Given the description of an element on the screen output the (x, y) to click on. 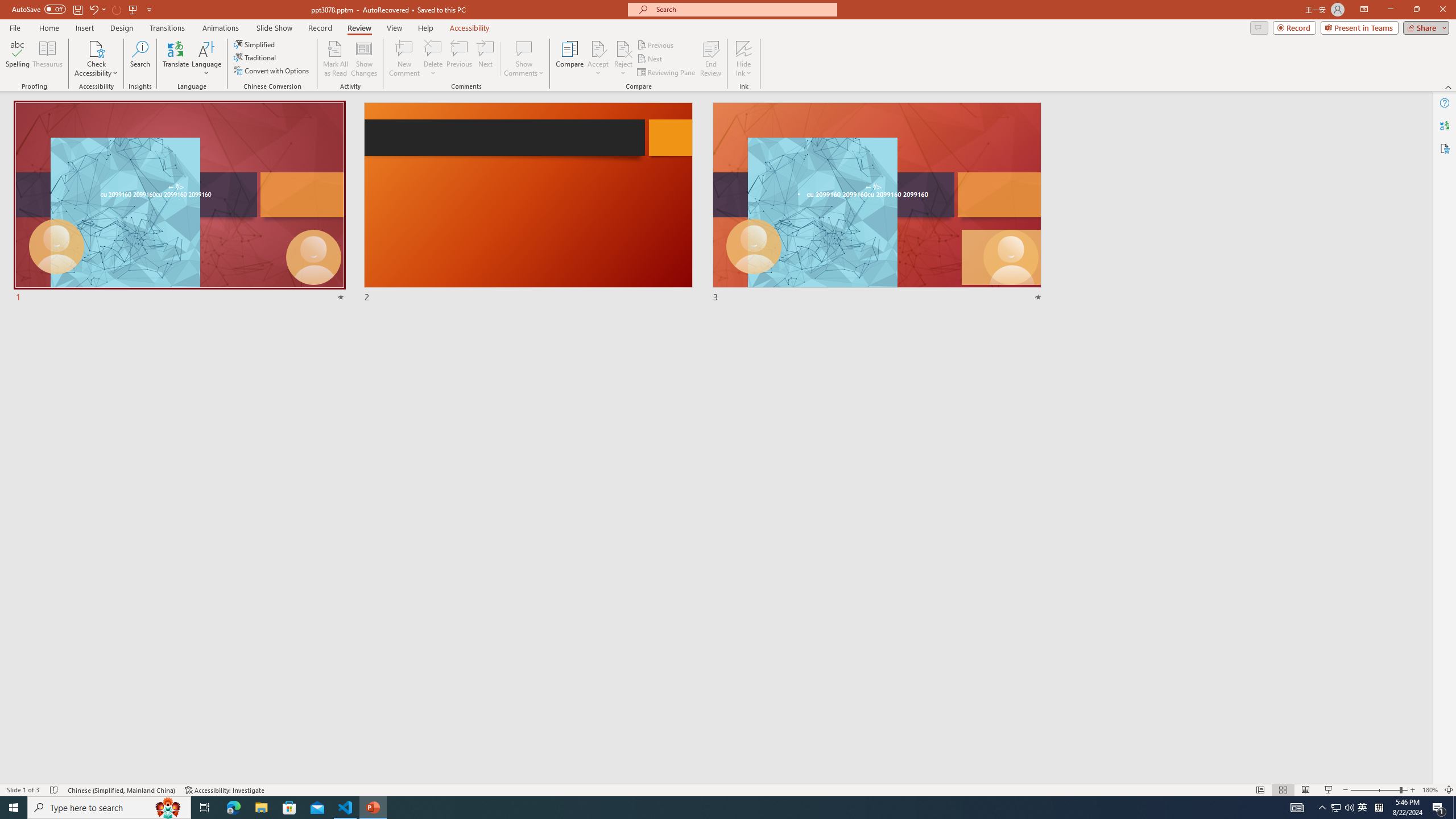
Reviewing Pane (666, 72)
Reject Change (622, 48)
AutoSave (38, 9)
Search (140, 58)
Zoom to Fit  (1449, 790)
Comments (1259, 27)
Compare (569, 58)
Reading View (1305, 790)
Record (1294, 27)
Customize Quick Access Toolbar (149, 9)
Zoom 180% (1430, 790)
Show Comments (524, 48)
Restore Down (1416, 9)
Undo (96, 9)
